Given the description of an element on the screen output the (x, y) to click on. 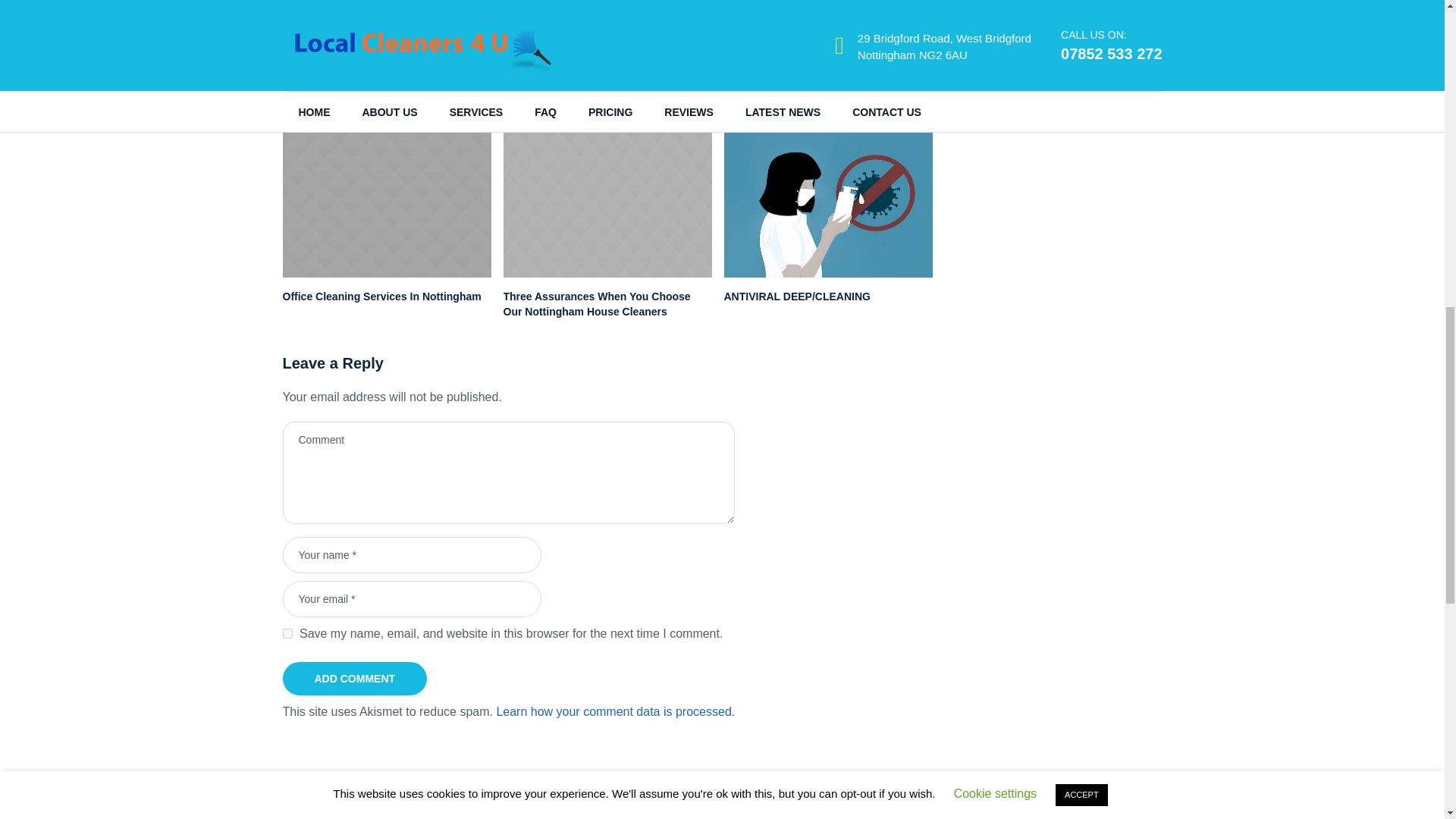
Domestic Cleaning In Nottingham (825, 6)
Office Cleaning Services In Nottingham (381, 296)
Office Cleaning Services In Nottingham (386, 203)
Add Comment (354, 678)
Learn how your comment data is processed (613, 711)
Add Comment (354, 678)
yes (287, 633)
Cleaning Company In Nottingham (391, 6)
